Given the description of an element on the screen output the (x, y) to click on. 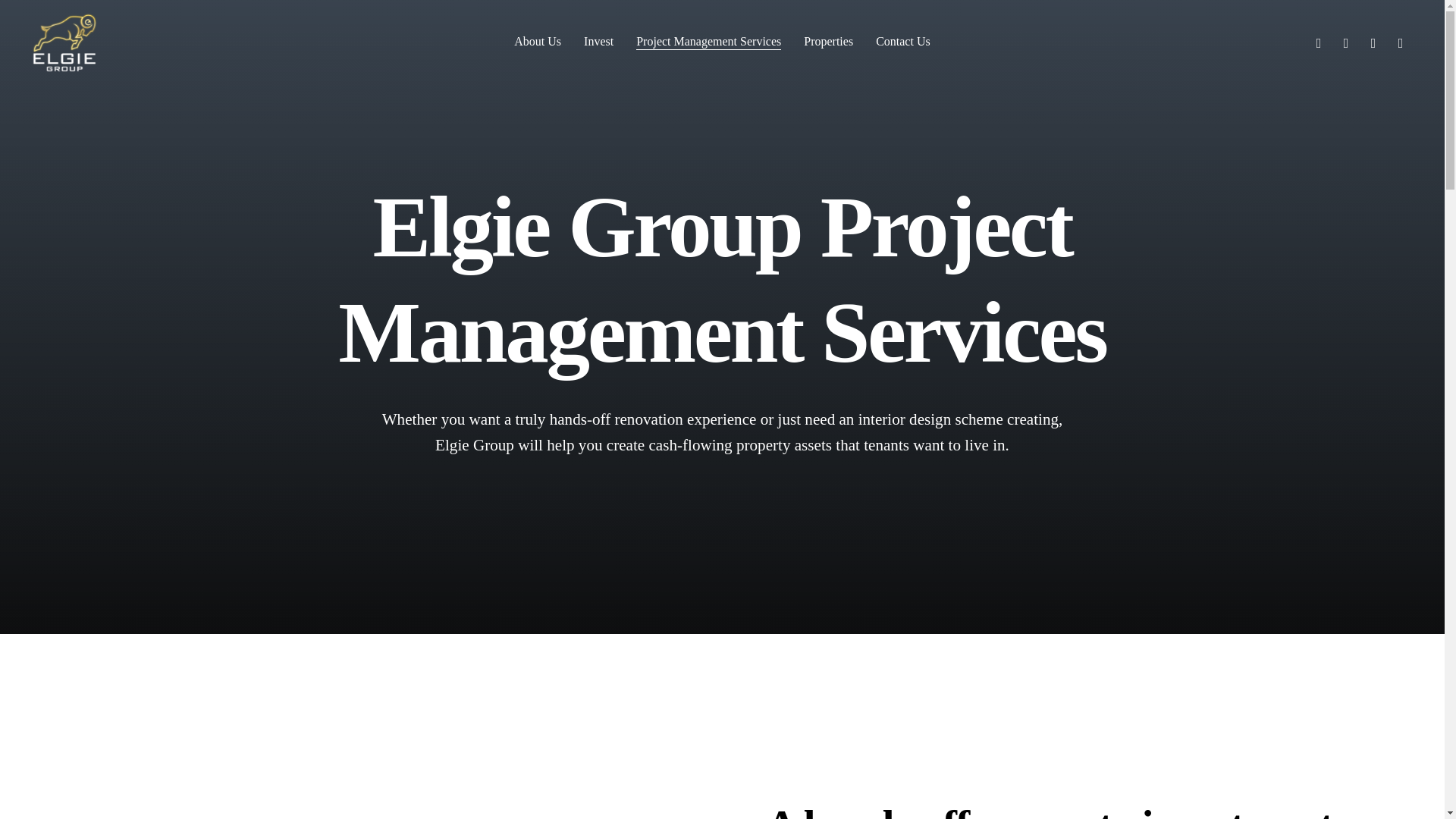
Properties (828, 41)
Project Management Services (708, 41)
facebook (1318, 40)
Invest (597, 41)
instagram (1400, 40)
About Us (536, 41)
youtube (1373, 40)
linkedin (1345, 40)
Contact Us (903, 41)
